Given the description of an element on the screen output the (x, y) to click on. 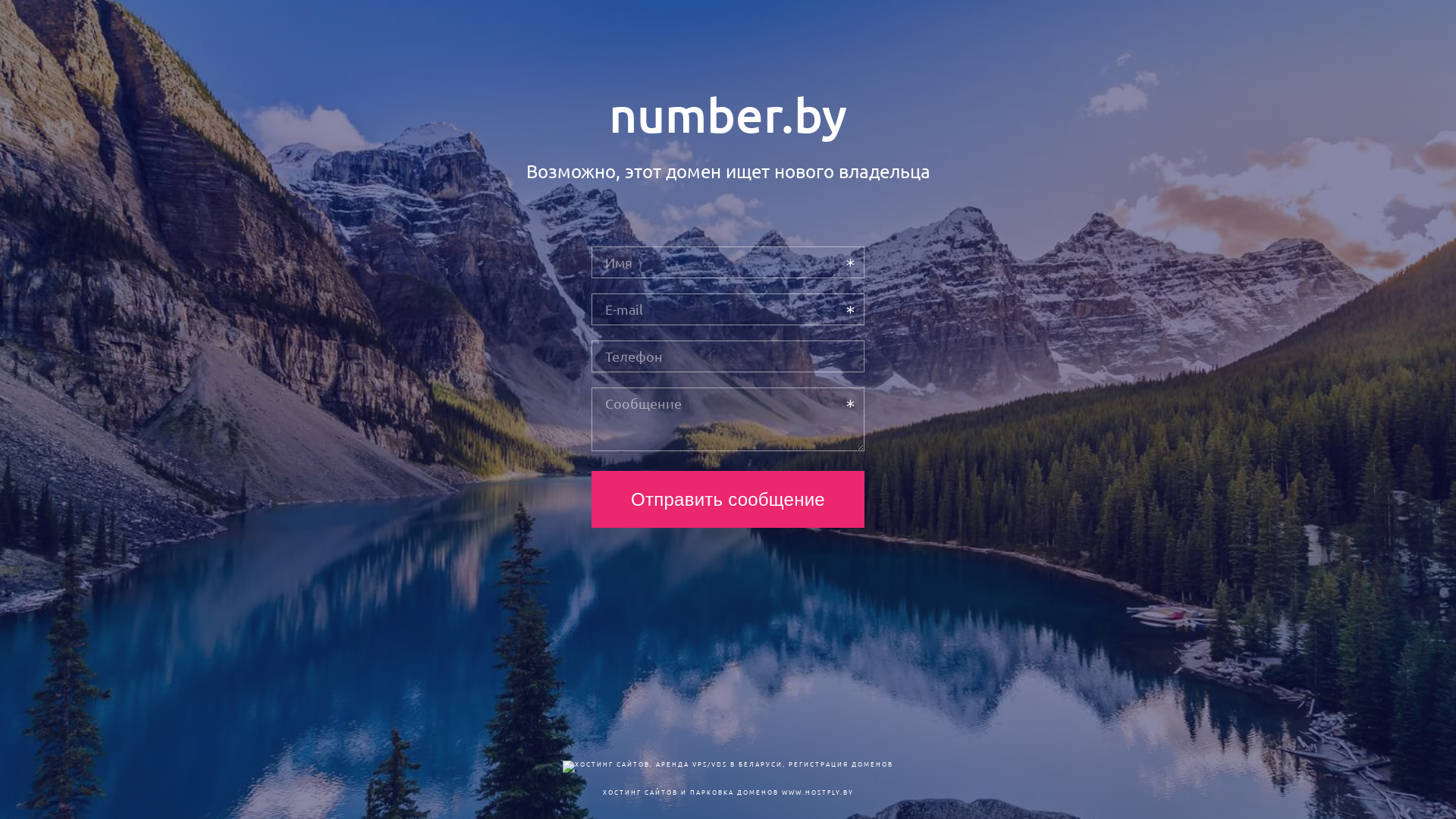
WWW.HOSTFLY.BY Element type: text (817, 791)
